Given the description of an element on the screen output the (x, y) to click on. 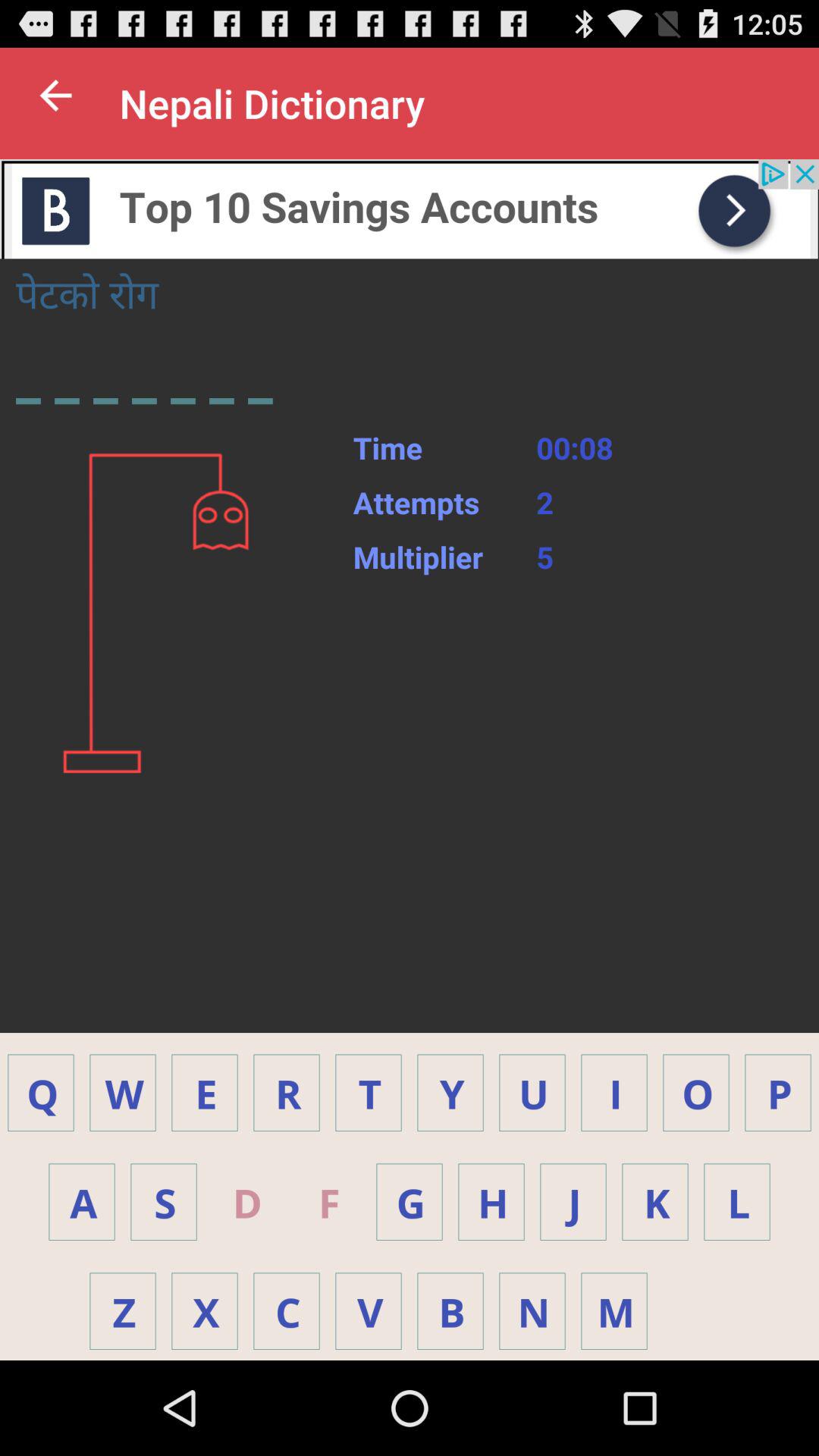
details about advertisement (409, 208)
